Given the description of an element on the screen output the (x, y) to click on. 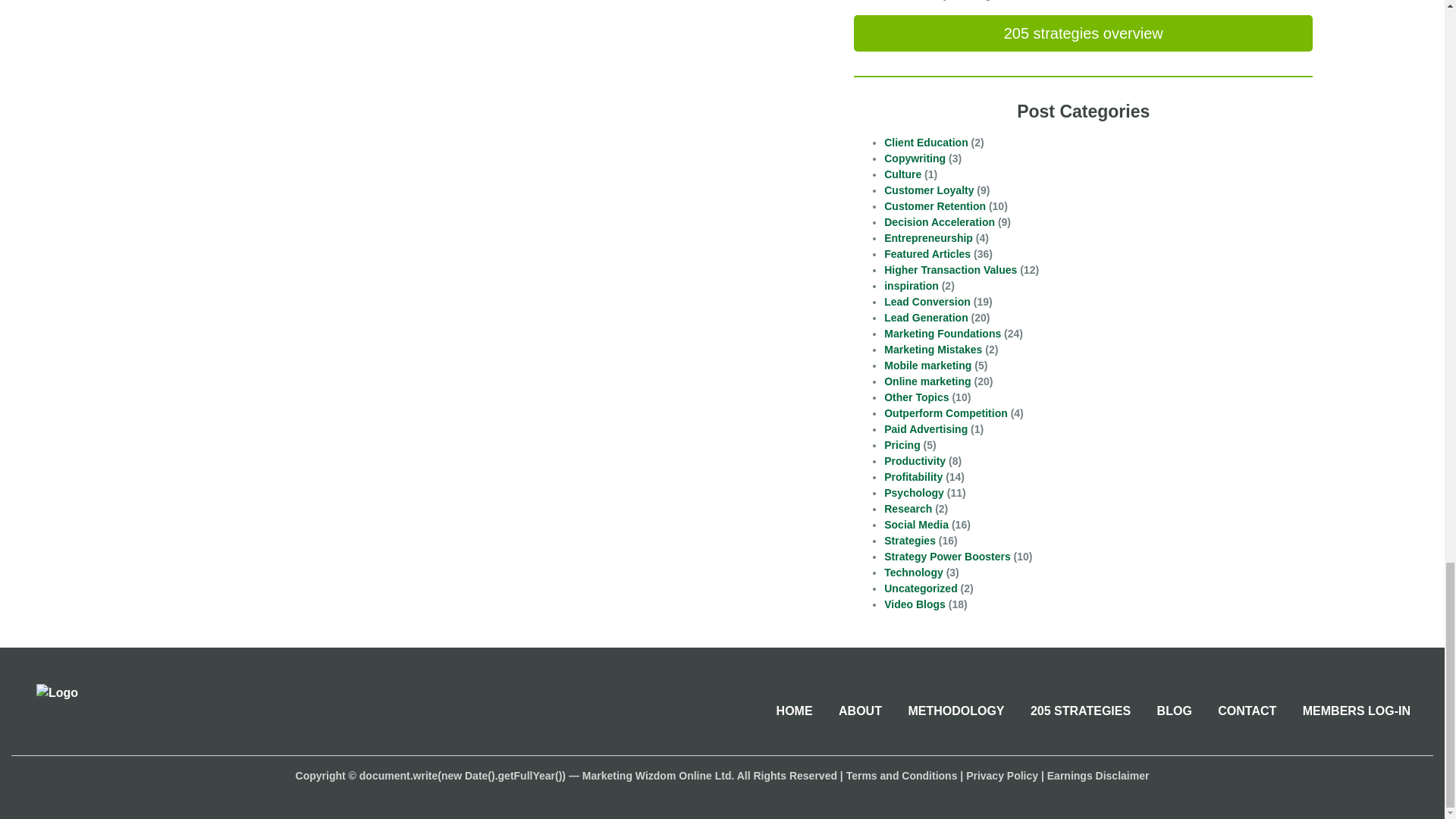
Copywriting (913, 158)
Customer Loyalty (928, 190)
Customer Retention (934, 205)
205 strategies overview (1083, 33)
Client Education (925, 142)
Culture (902, 174)
